Given the description of an element on the screen output the (x, y) to click on. 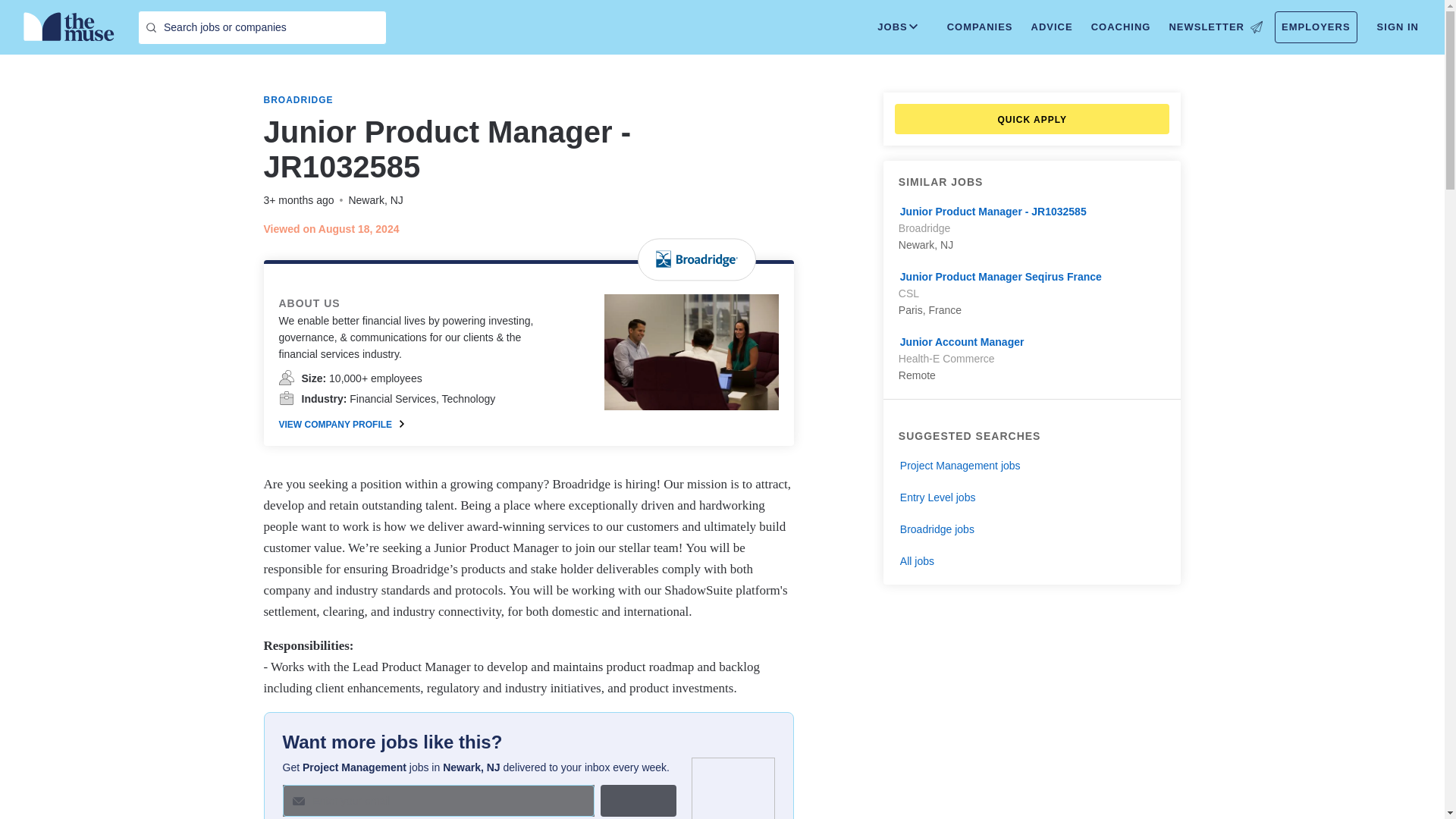
NEWSLETTER (1214, 27)
EMPLOYERS (1315, 27)
COACHING (1120, 27)
SIGN IN (1398, 27)
COMPANIES (979, 27)
ADVICE (1051, 27)
VIEW COMPANY PROFILE (341, 424)
BROADRIDGE (298, 100)
